Given the description of an element on the screen output the (x, y) to click on. 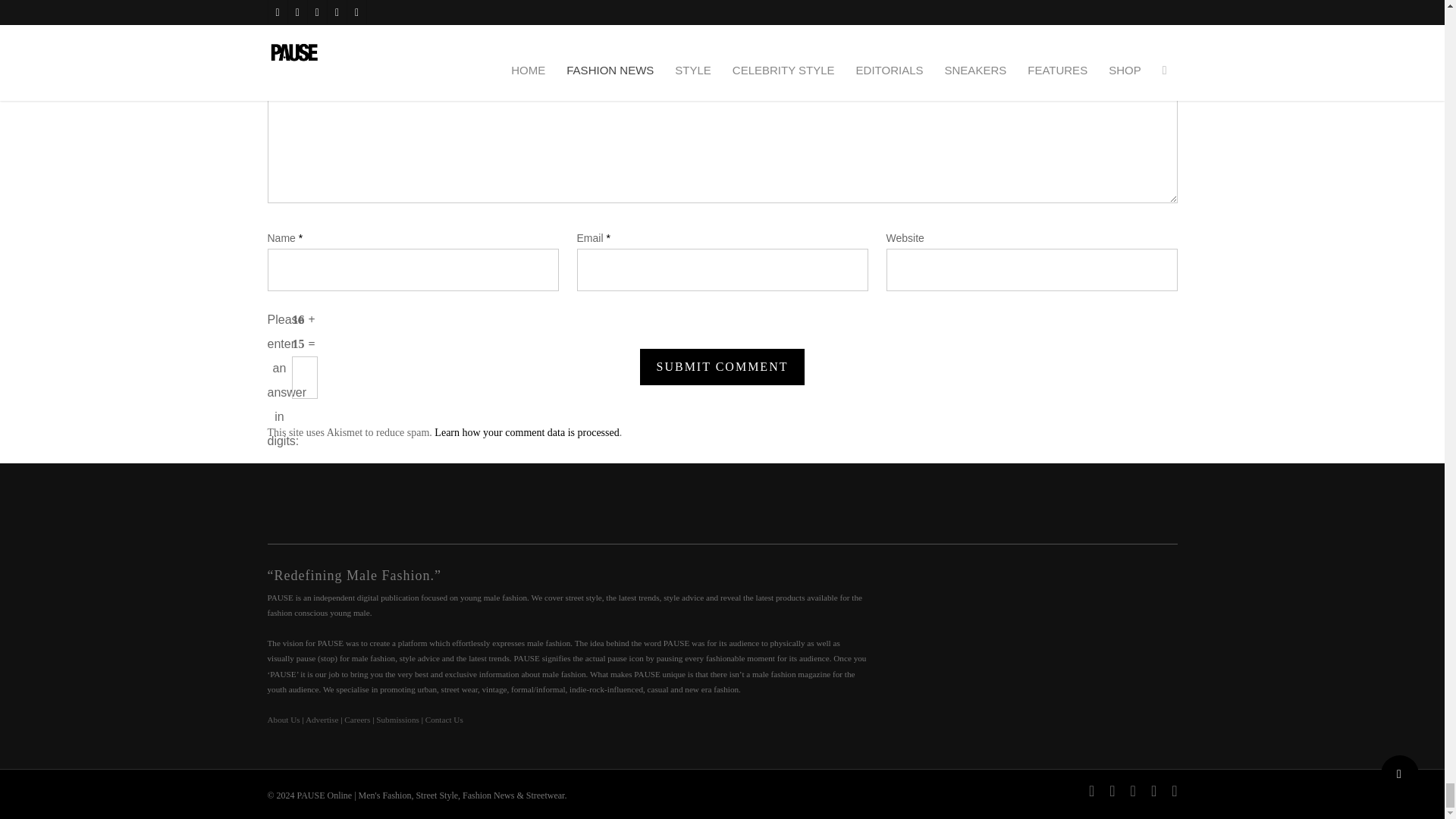
Submit Comment (722, 366)
